Given the description of an element on the screen output the (x, y) to click on. 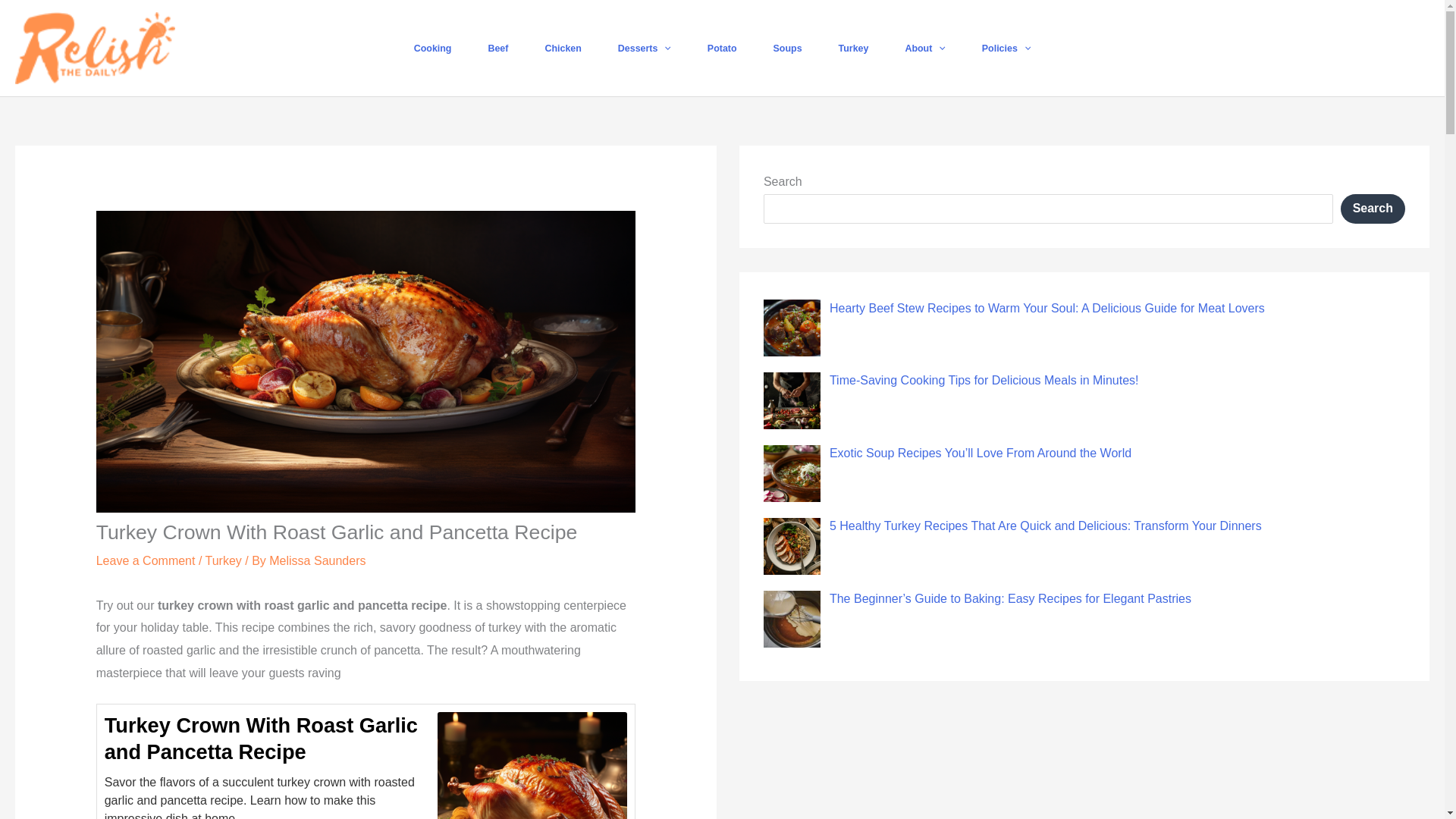
Turkey (853, 48)
Policies (1005, 48)
About (924, 48)
Cooking (433, 48)
Potato (721, 48)
Chicken (561, 48)
Beef (496, 48)
Desserts (643, 48)
Soups (788, 48)
View all posts by Melissa Saunders (317, 560)
